Given the description of an element on the screen output the (x, y) to click on. 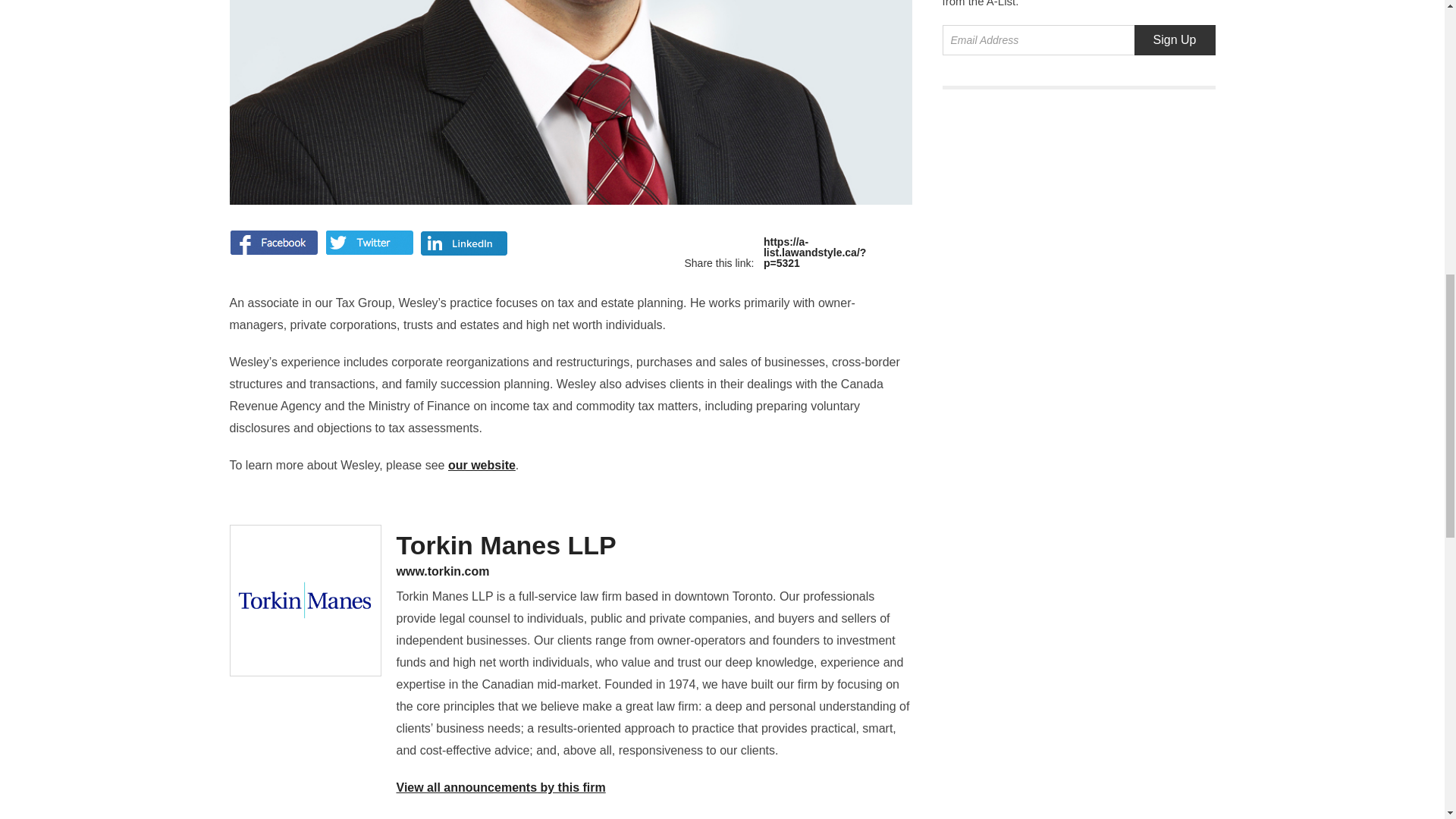
Sign Up (1174, 40)
Torkin Manes LLP (505, 544)
our website (481, 464)
View all announcements by this firm (500, 787)
Torkin Manes Welcomes New Associate Wesley Isaacs (801, 252)
www.torkin.com (653, 571)
